Given the description of an element on the screen output the (x, y) to click on. 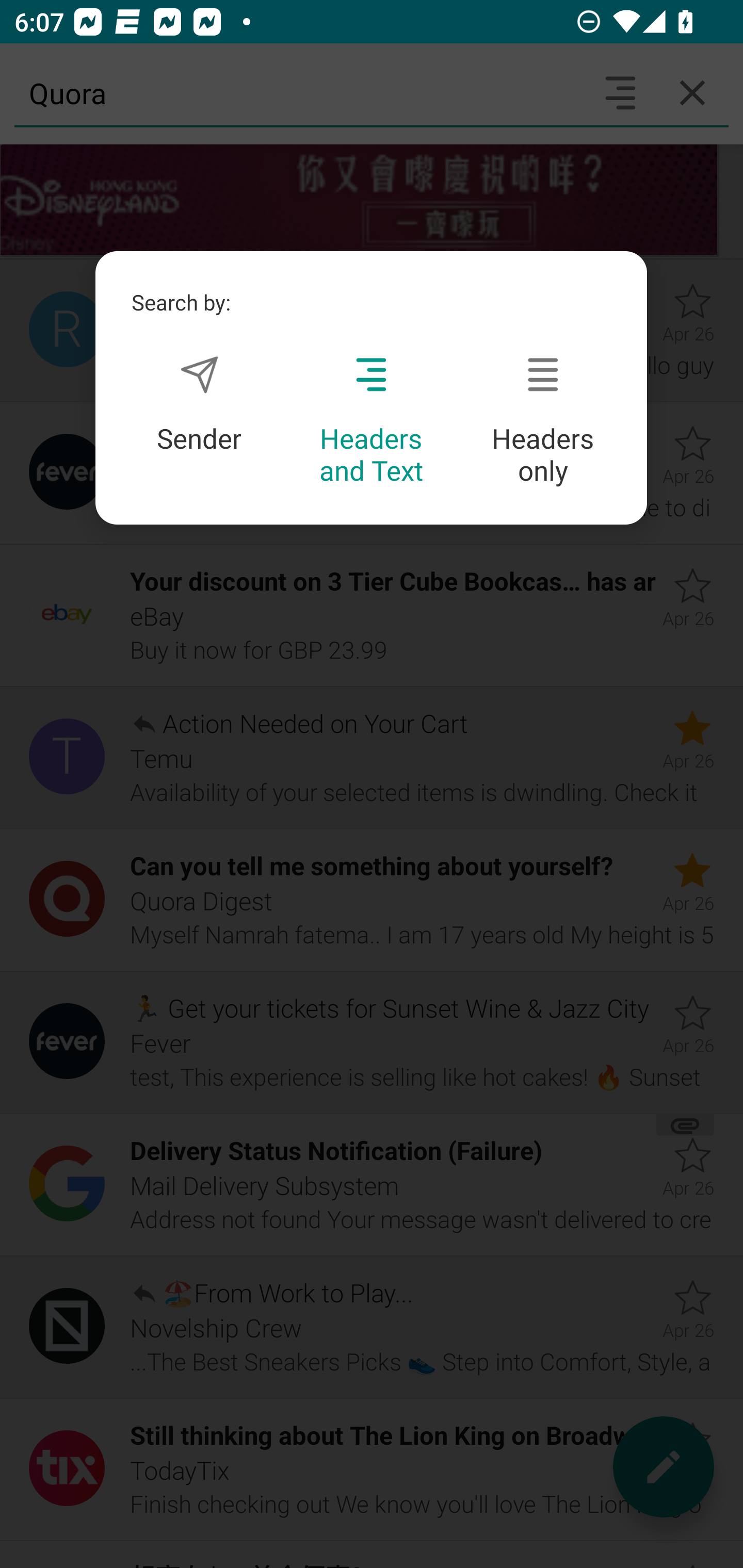
Sender (199, 404)
Headers and Text (371, 420)
Headers only (542, 420)
